Given the description of an element on the screen output the (x, y) to click on. 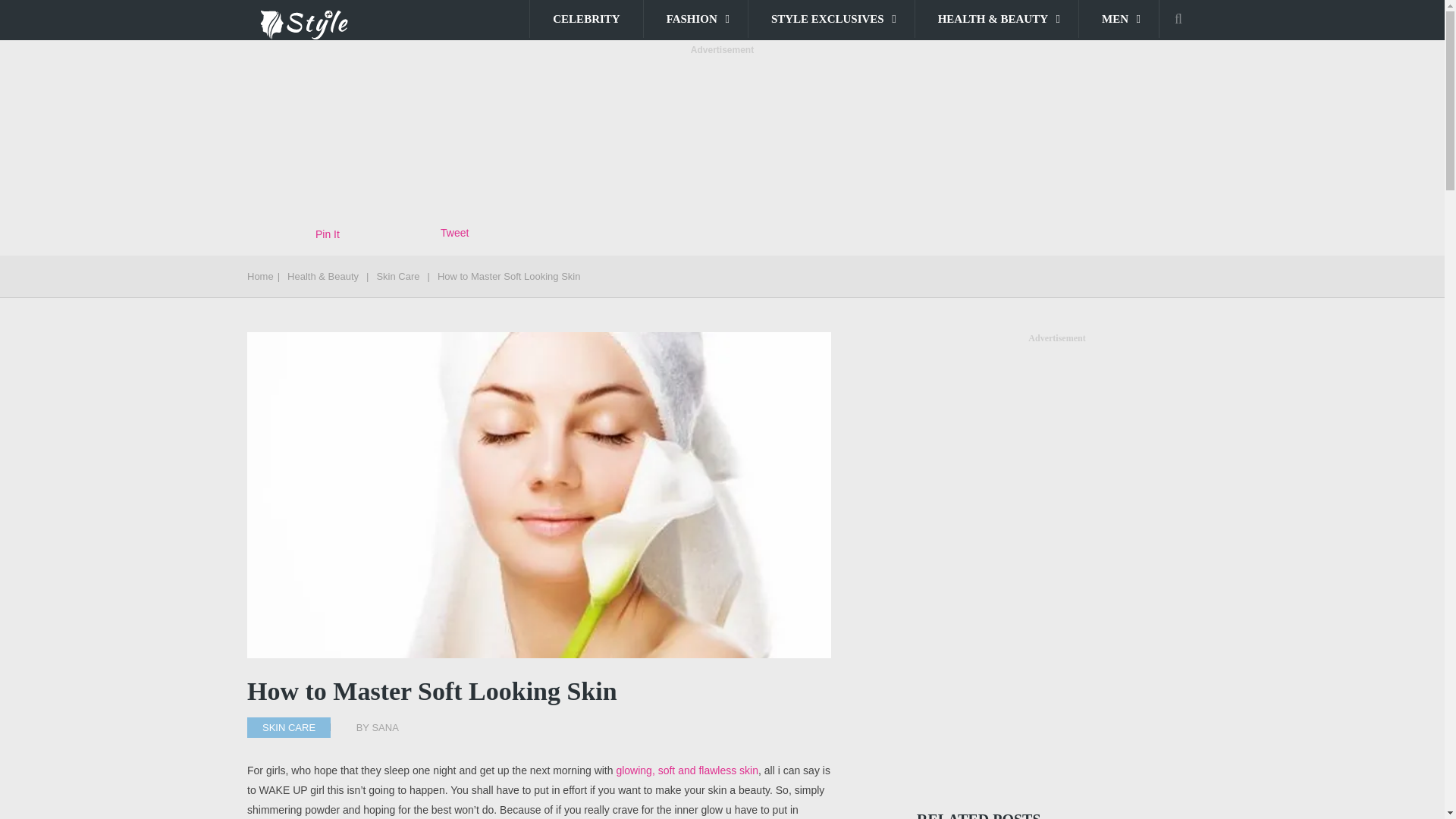
CELEBRITY (585, 18)
STYLE EXCLUSIVES (831, 18)
Glowing Skin (686, 770)
MEN (1118, 18)
FASHION (695, 18)
